Given the description of an element on the screen output the (x, y) to click on. 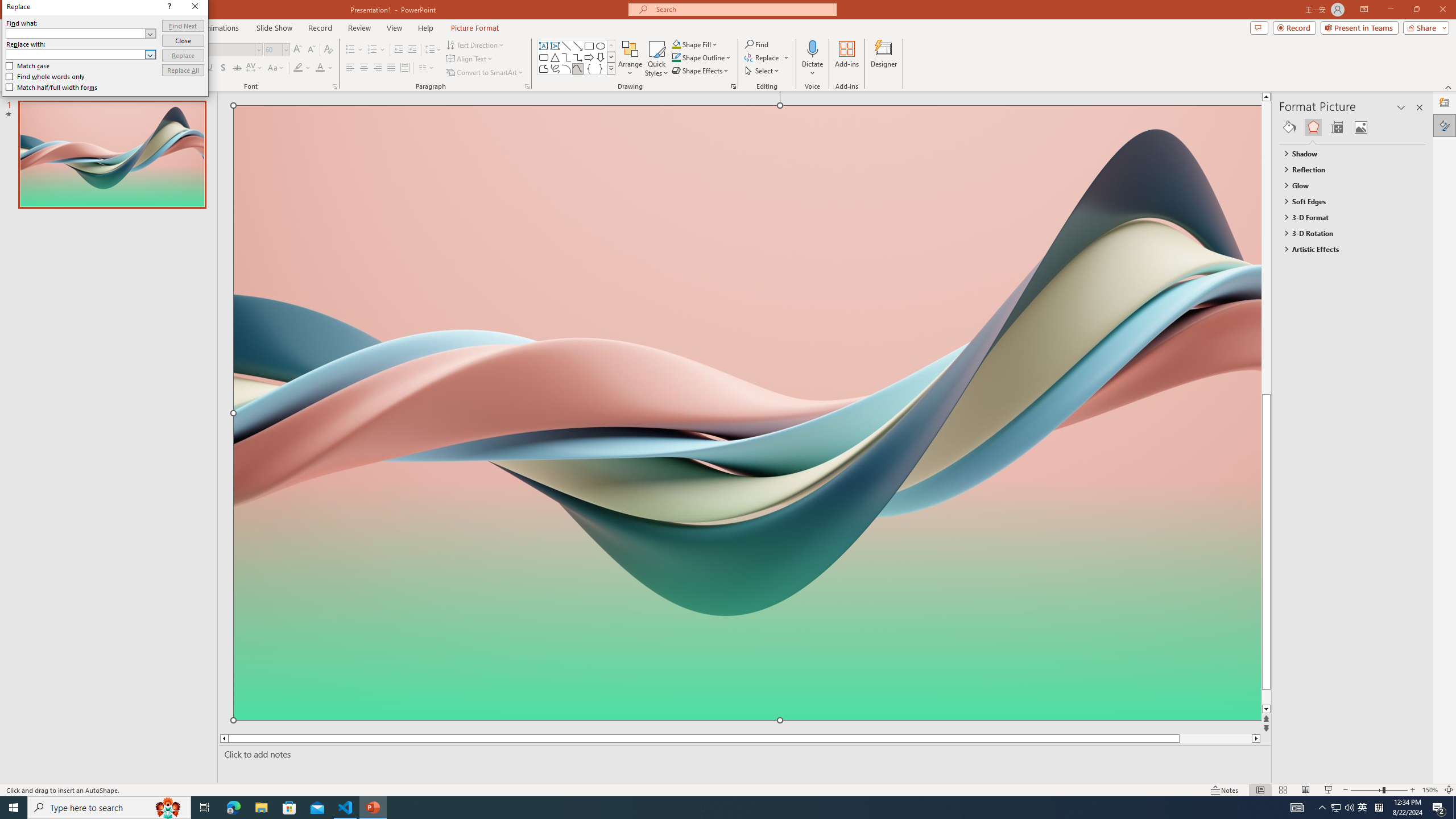
Decorative Locked (747, 579)
Arrow: Right (589, 57)
Curve (577, 68)
Class: NetUIScrollBar (1420, 460)
Glow (1347, 185)
Soft Edges (1347, 201)
Oval (600, 45)
Shapes (611, 68)
3-D Format (1347, 217)
Rectangle: Rounded Corners (543, 57)
